Given the description of an element on the screen output the (x, y) to click on. 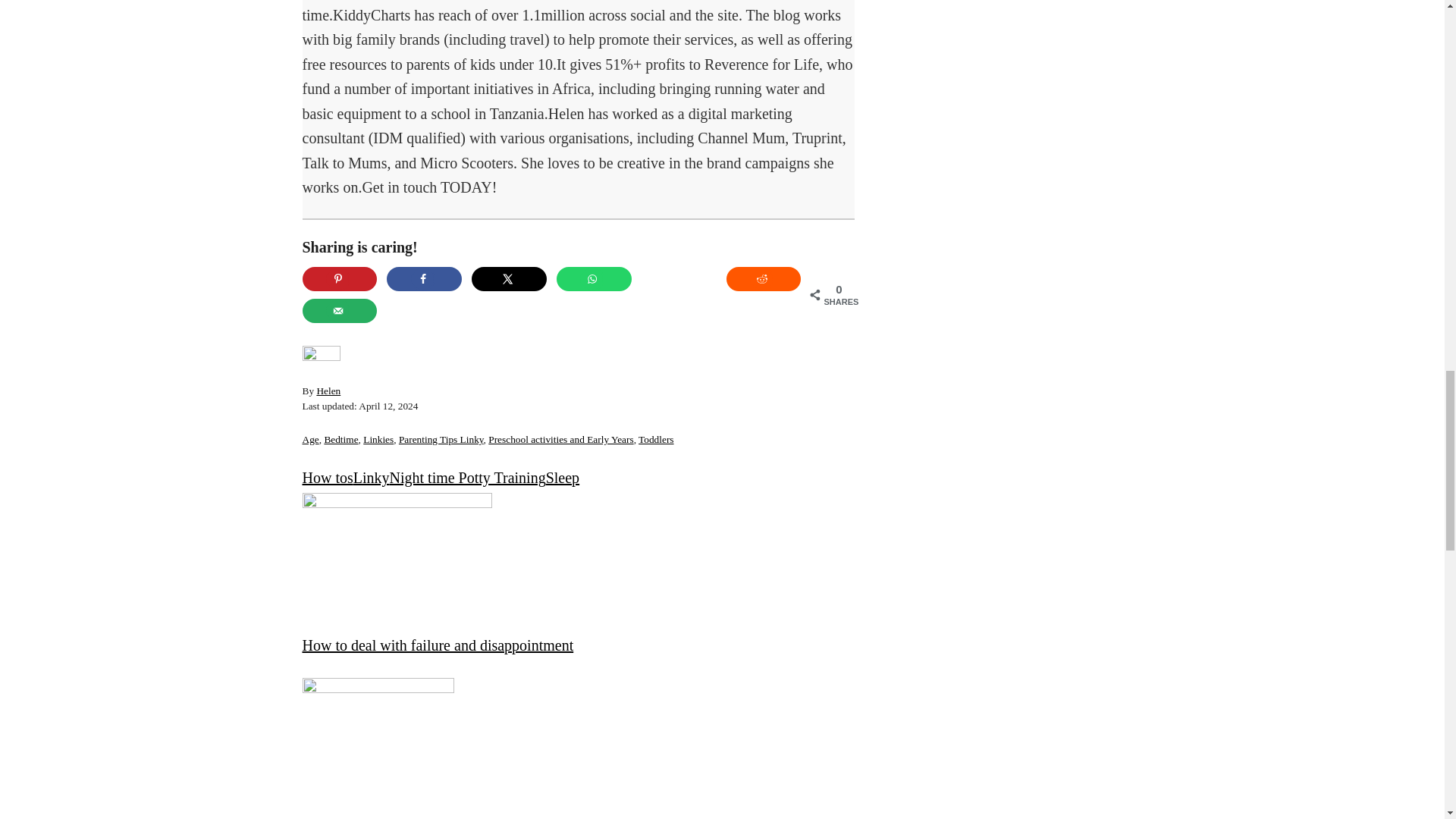
Send over email (339, 310)
Share on WhatsApp (593, 278)
Share on Facebook (424, 278)
Share on Reddit (764, 278)
Share on Buffer (679, 278)
Save to Pinterest (339, 278)
Share on X (509, 278)
